Given the description of an element on the screen output the (x, y) to click on. 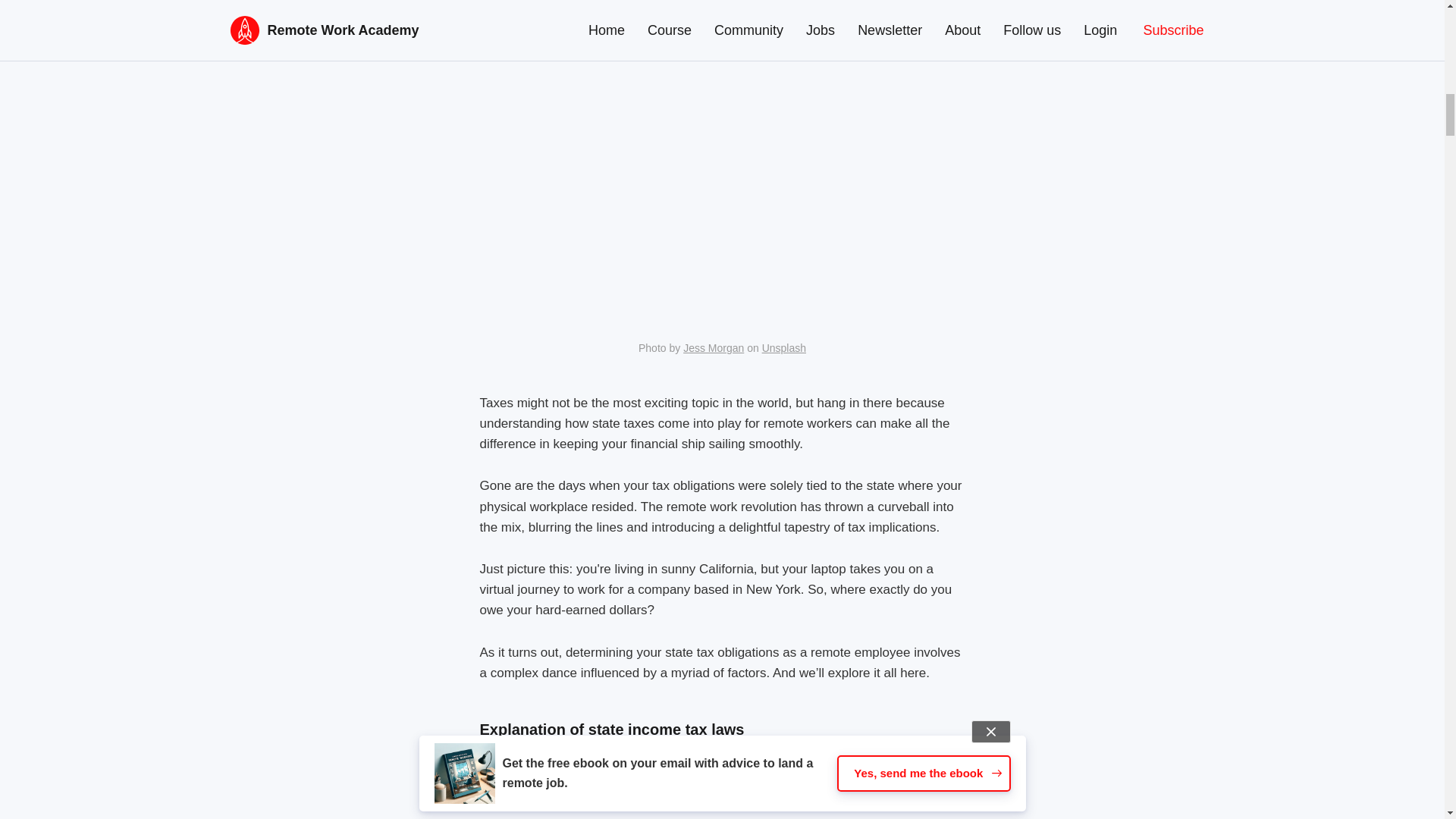
Jess Morgan (713, 347)
Unsplash (783, 347)
flat income tax (637, 817)
